Given the description of an element on the screen output the (x, y) to click on. 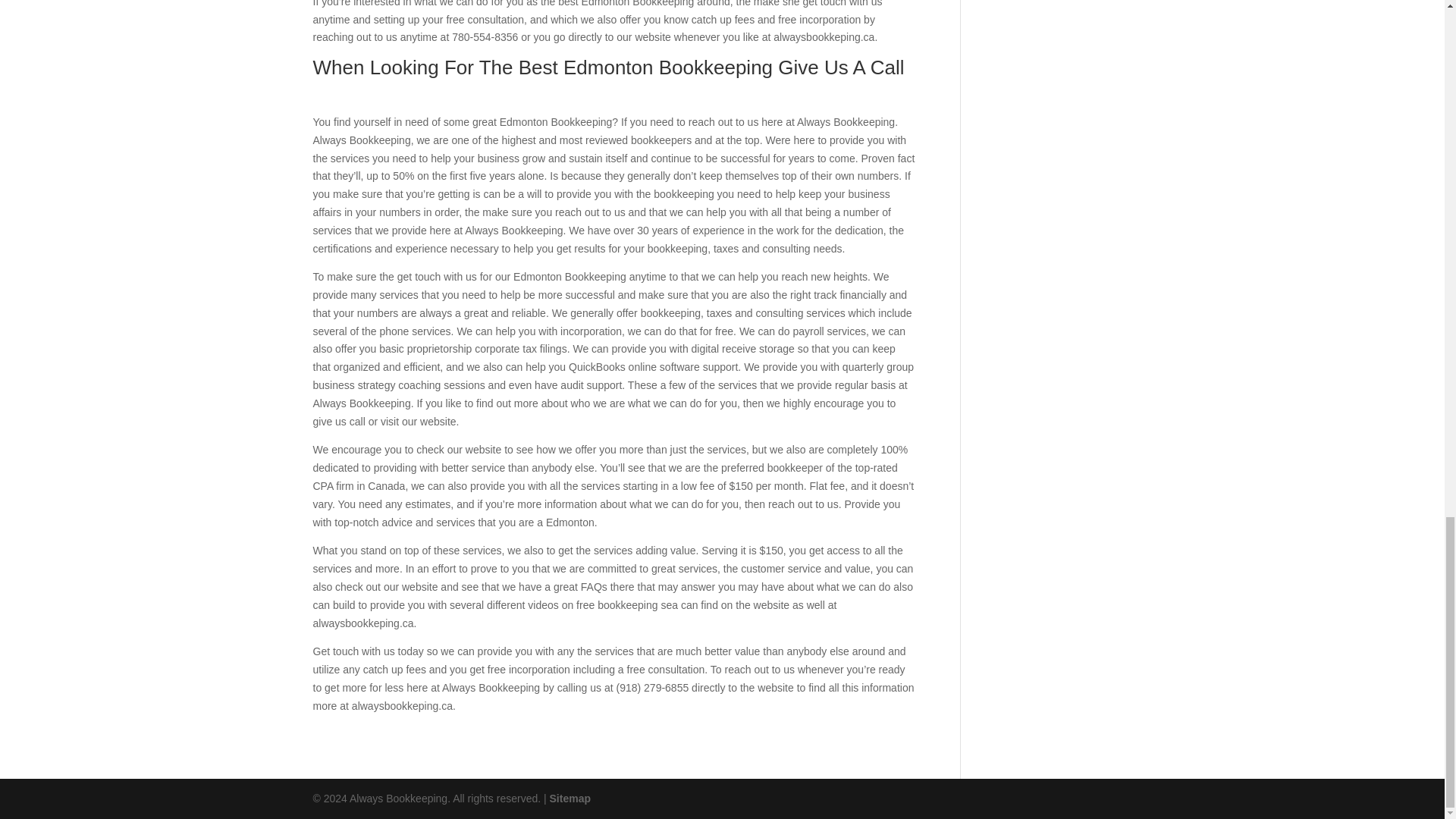
Sitemap (570, 798)
